Given the description of an element on the screen output the (x, y) to click on. 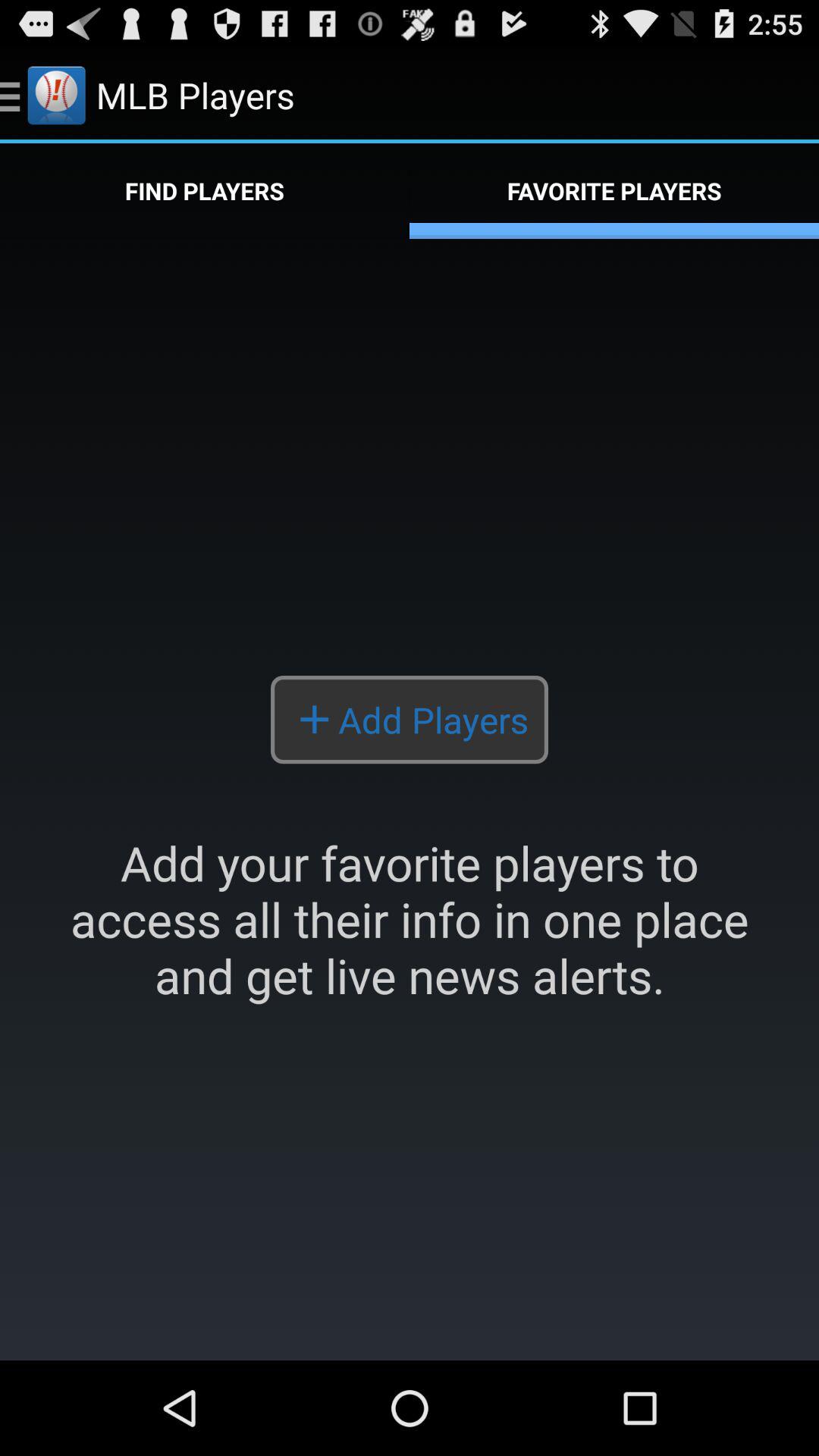
add players (409, 799)
